Given the description of an element on the screen output the (x, y) to click on. 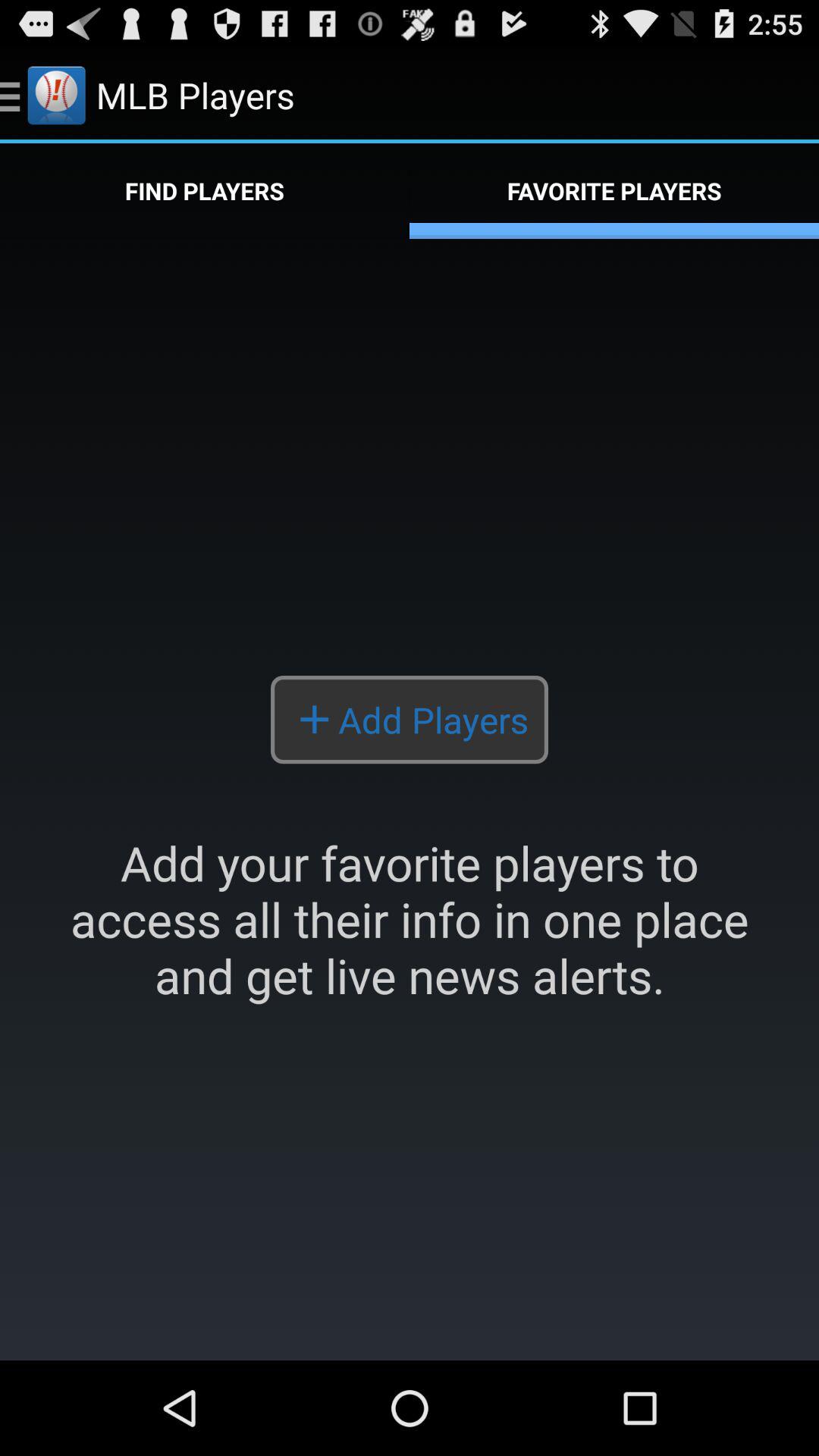
add players (409, 799)
